Given the description of an element on the screen output the (x, y) to click on. 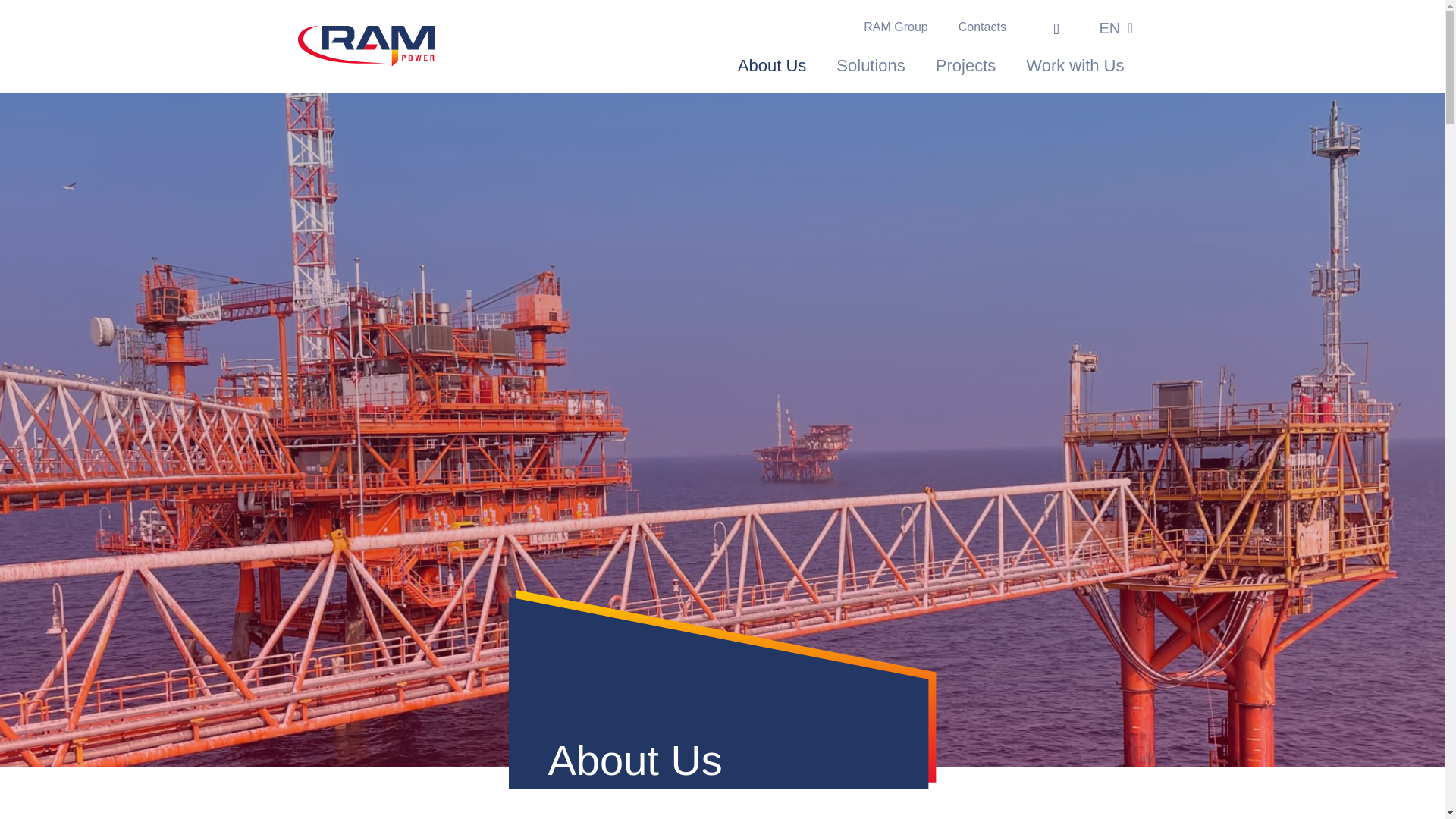
RAM Group (895, 26)
EN (1113, 27)
Solutions (870, 65)
Projects (965, 65)
Contacts (982, 26)
About Us (772, 65)
Work with Us (1074, 65)
